Given the description of an element on the screen output the (x, y) to click on. 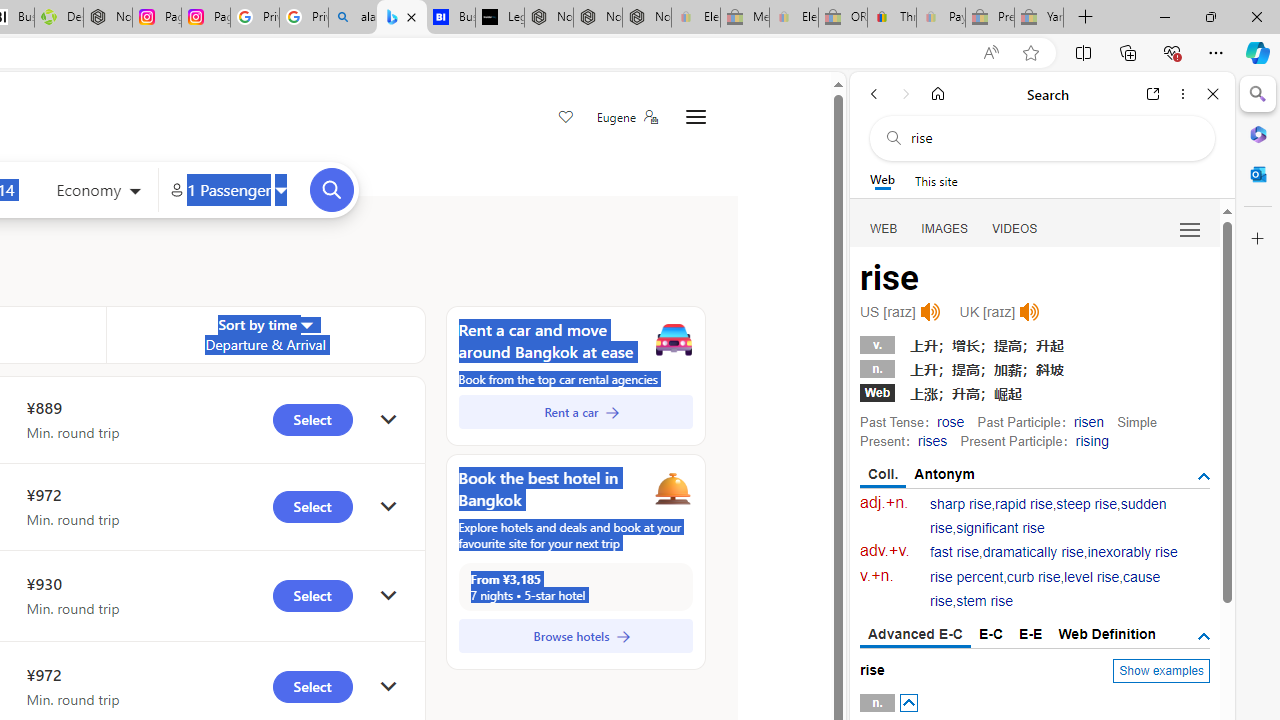
AutomationID: posbtn_0 (908, 703)
Save (565, 118)
steep rise (1086, 503)
stem rise (984, 601)
1 Passenger (228, 189)
